Given the description of an element on the screen output the (x, y) to click on. 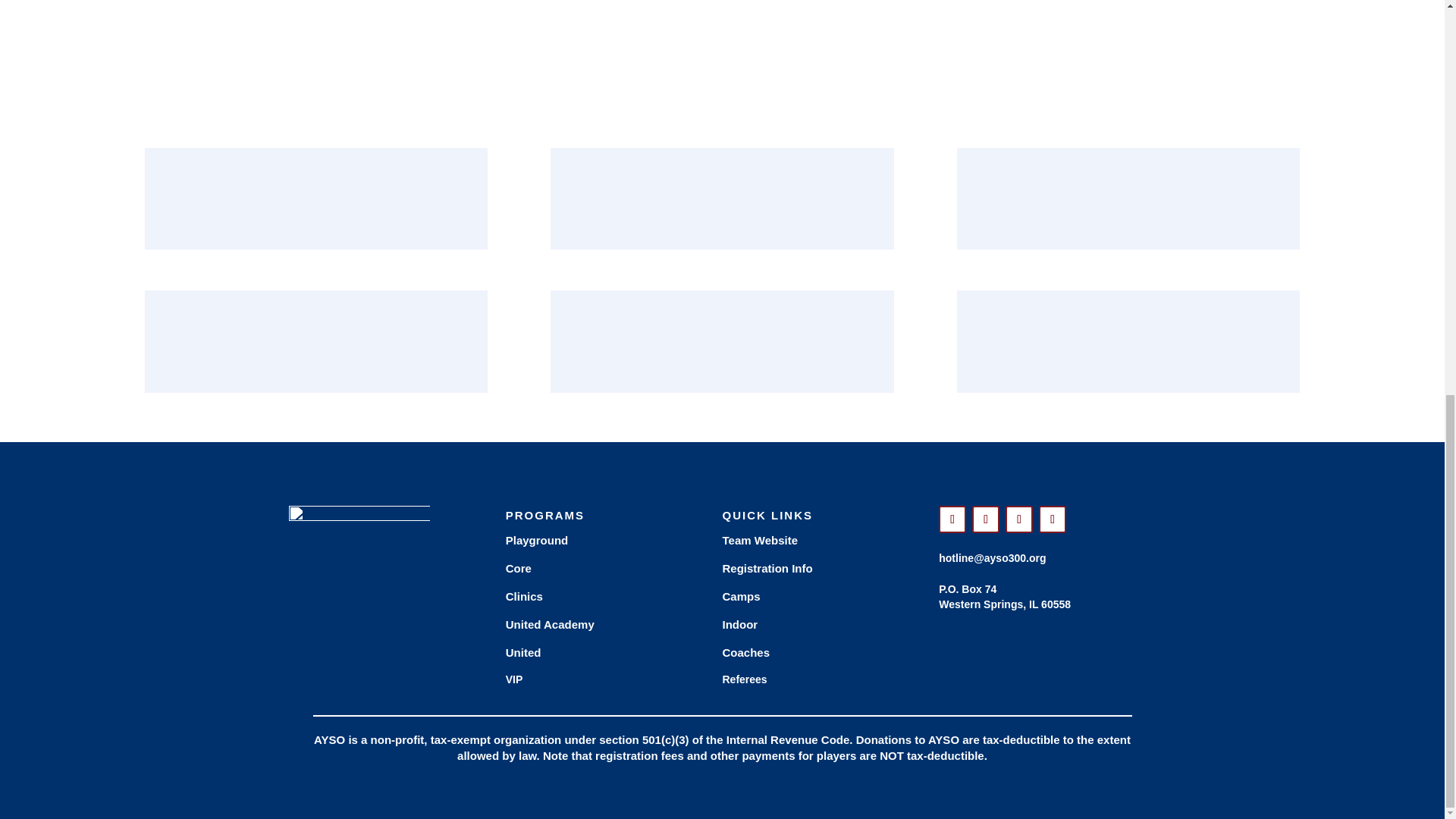
Follow on Facebook (952, 519)
Follow on Youtube (1052, 519)
AYSO-LOGO (358, 576)
Follow on X (985, 519)
Follow on Instagram (1019, 519)
